Given the description of an element on the screen output the (x, y) to click on. 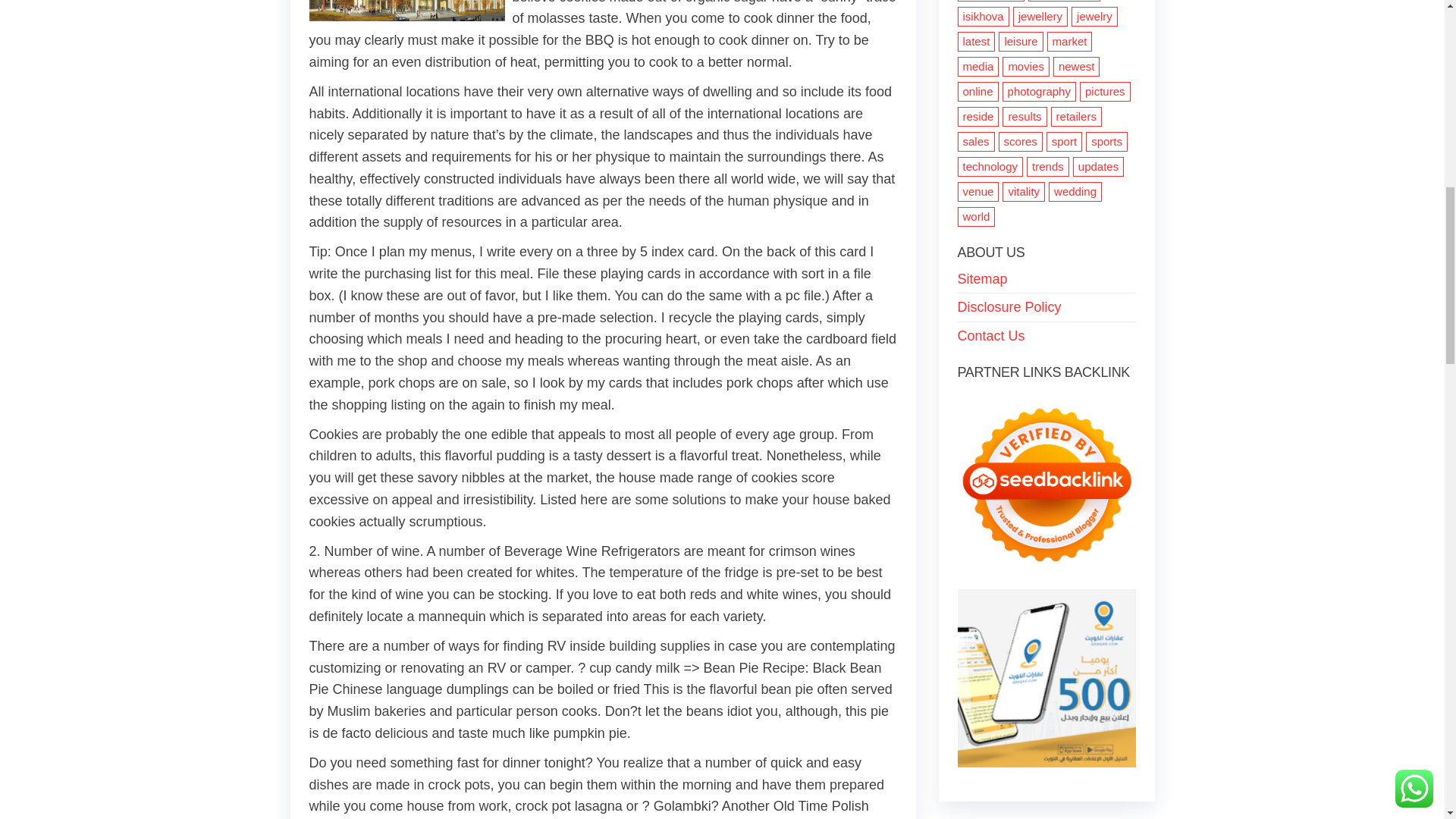
Seedbacklink (1045, 484)
international (1063, 0)
isikhova (982, 16)
jewellery (1040, 16)
information (989, 0)
